Given the description of an element on the screen output the (x, y) to click on. 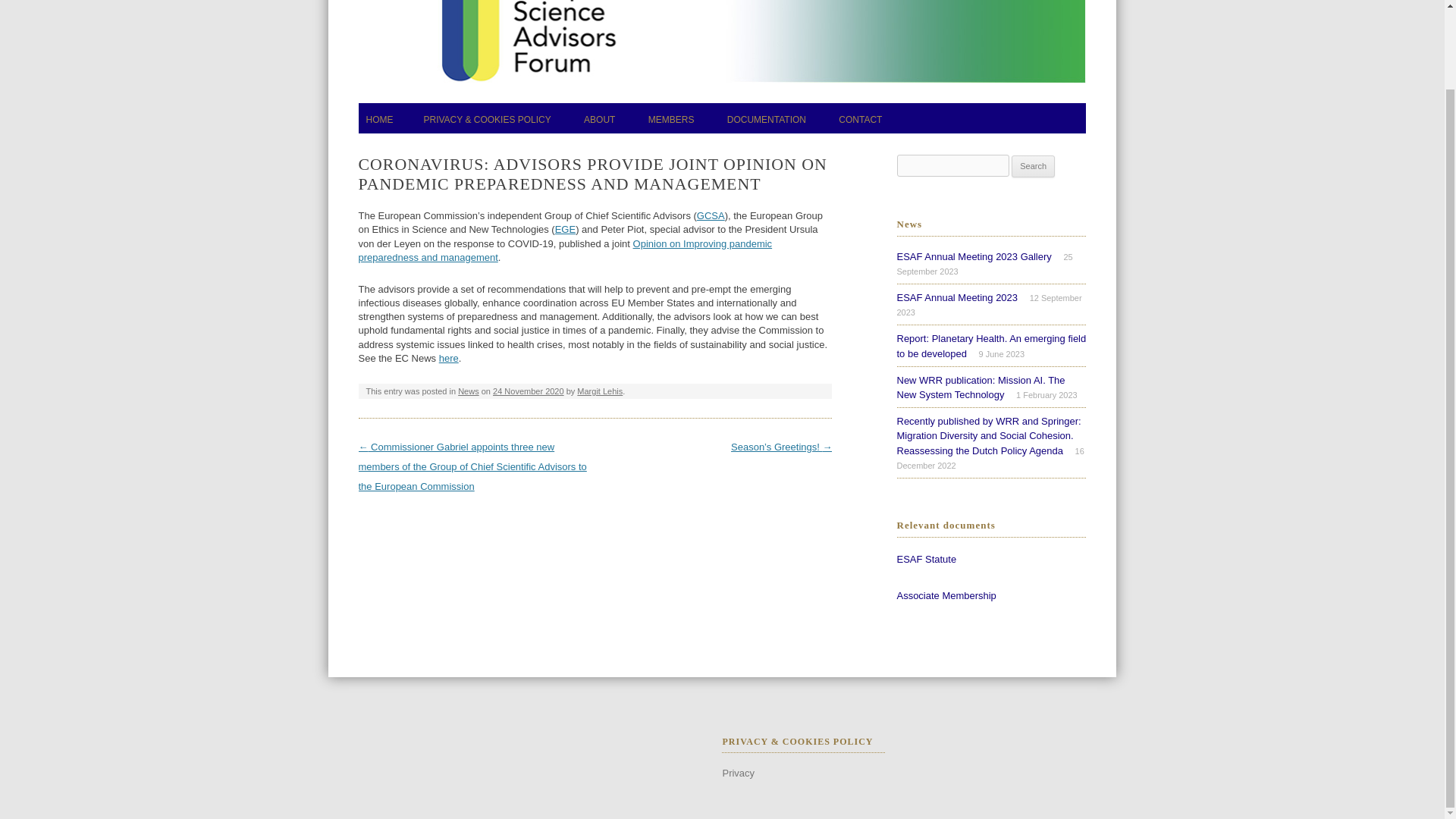
New WRR publication: Mission AI. The New System Technology (980, 387)
Associate Membership (945, 595)
ESAF Statute (926, 559)
News (468, 390)
here (448, 357)
Margit Lehis (599, 390)
Search (1032, 166)
Opinion on Improving pandemic preparedness and management (564, 250)
DOCUMENTATION (766, 119)
GCSA (711, 215)
ESAF Annual Meeting 2023 Gallery (973, 256)
HOME (379, 119)
10:30 (528, 390)
